Given the description of an element on the screen output the (x, y) to click on. 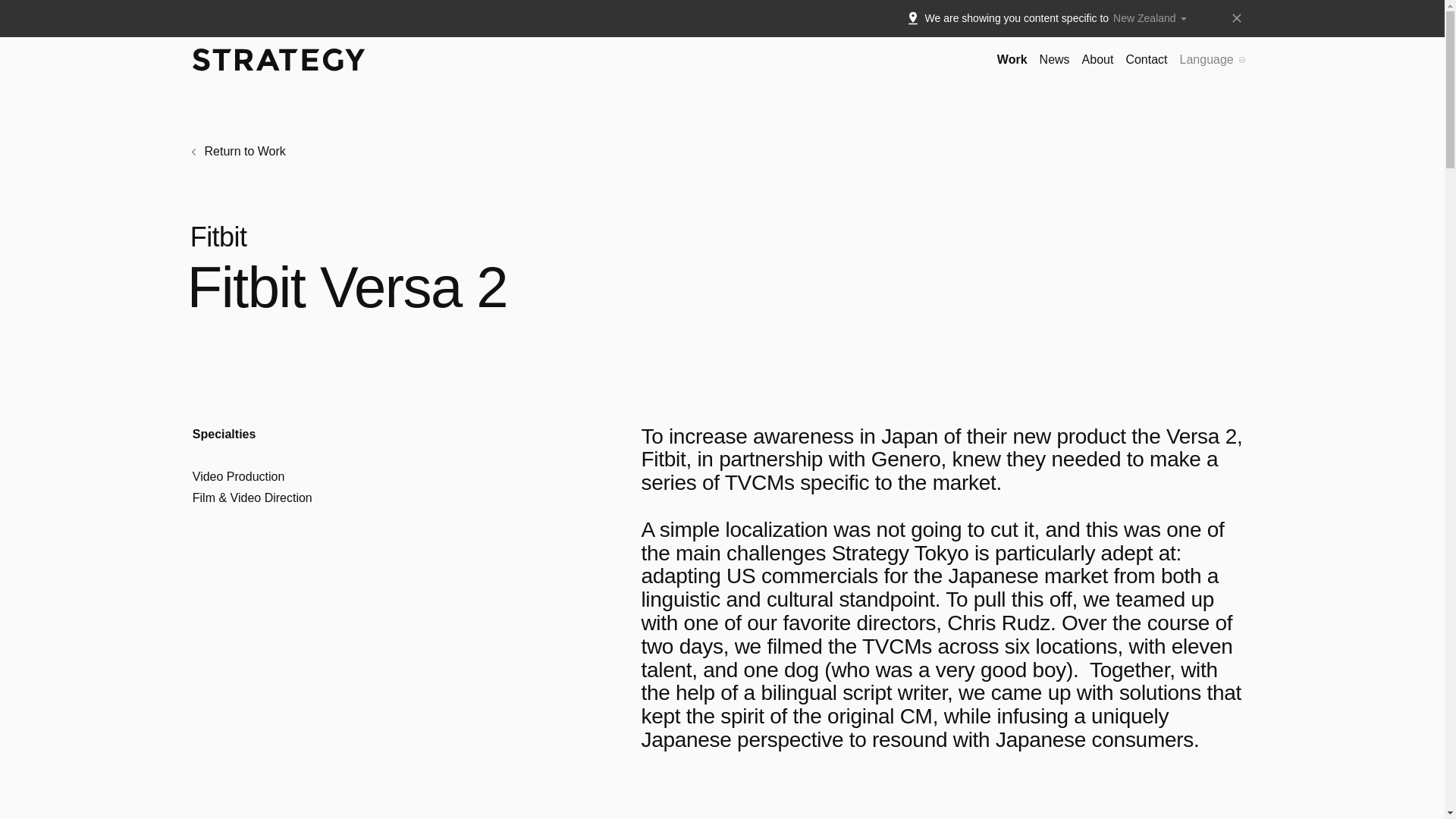
New Zealand (1153, 18)
Work (1012, 59)
Language (1212, 59)
Return to Work (237, 151)
Contact (1146, 59)
About (1097, 59)
Video Production (238, 477)
News (1054, 59)
